Given the description of an element on the screen output the (x, y) to click on. 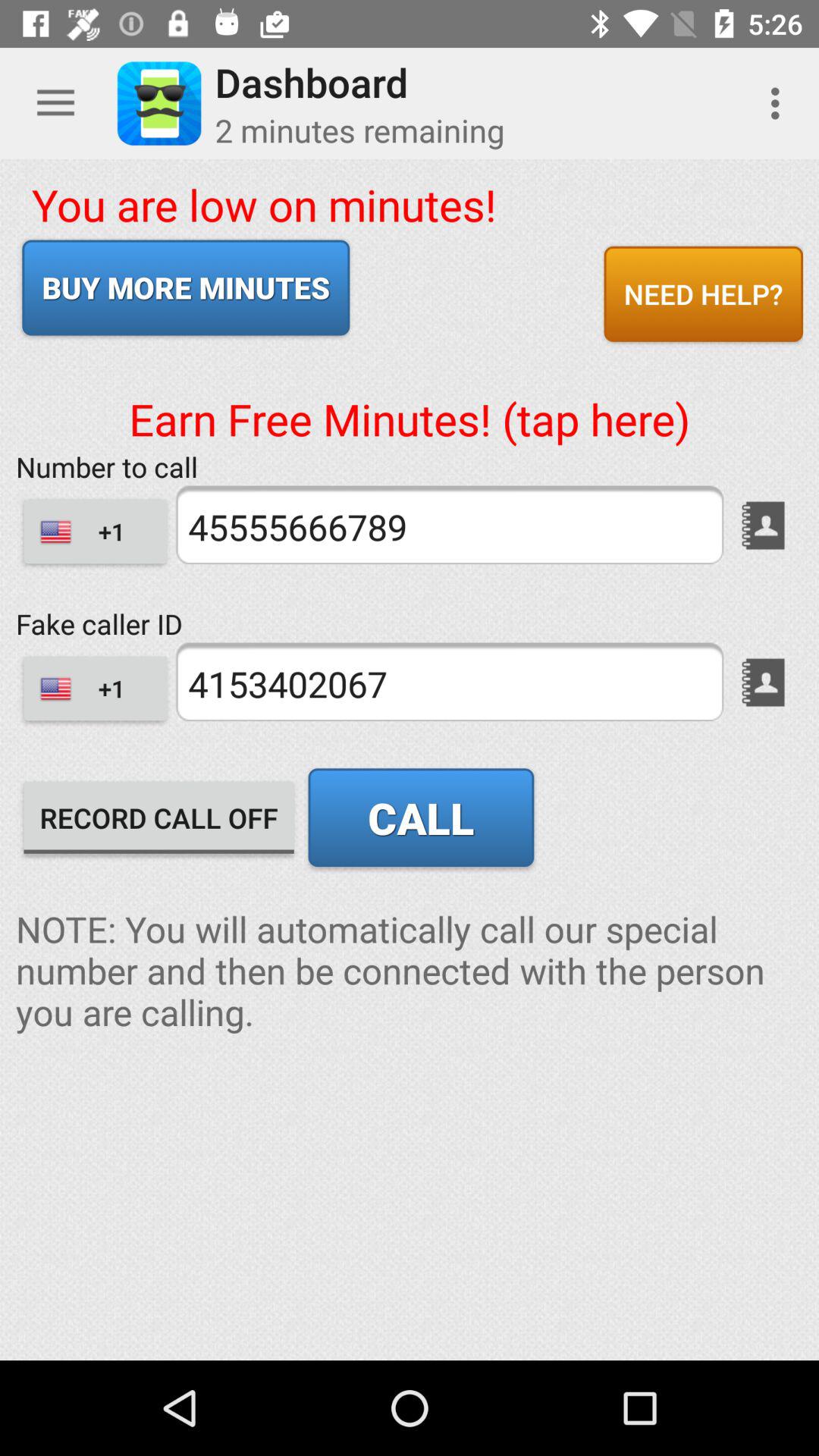
turn on icon below +1 item (158, 817)
